Given the description of an element on the screen output the (x, y) to click on. 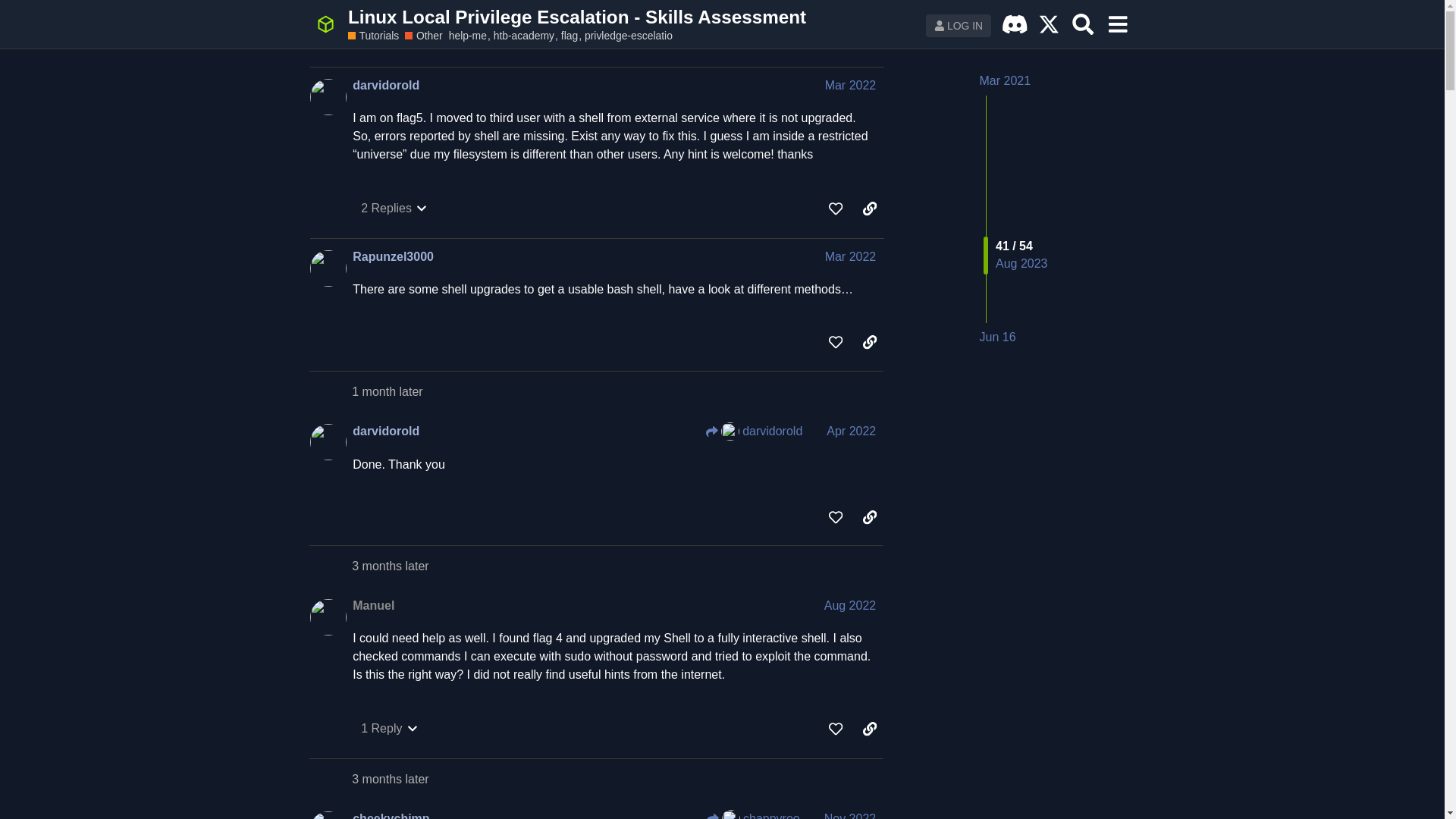
Post date (850, 84)
2 Replies (393, 208)
LOG IN (958, 25)
Aug 2022 (850, 604)
Rapunzel3000 (392, 256)
htb-academy (526, 35)
Post date (850, 256)
Jun 16 (997, 337)
Apr 2022 (851, 431)
Linux Local Privilege Escalation - Skills Assessment (576, 16)
DESKTOP-ONLY LINK (1048, 23)
like this post (835, 341)
Mar 2021 (1004, 80)
darvidorold (754, 431)
Mar 2022 (850, 84)
